Given the description of an element on the screen output the (x, y) to click on. 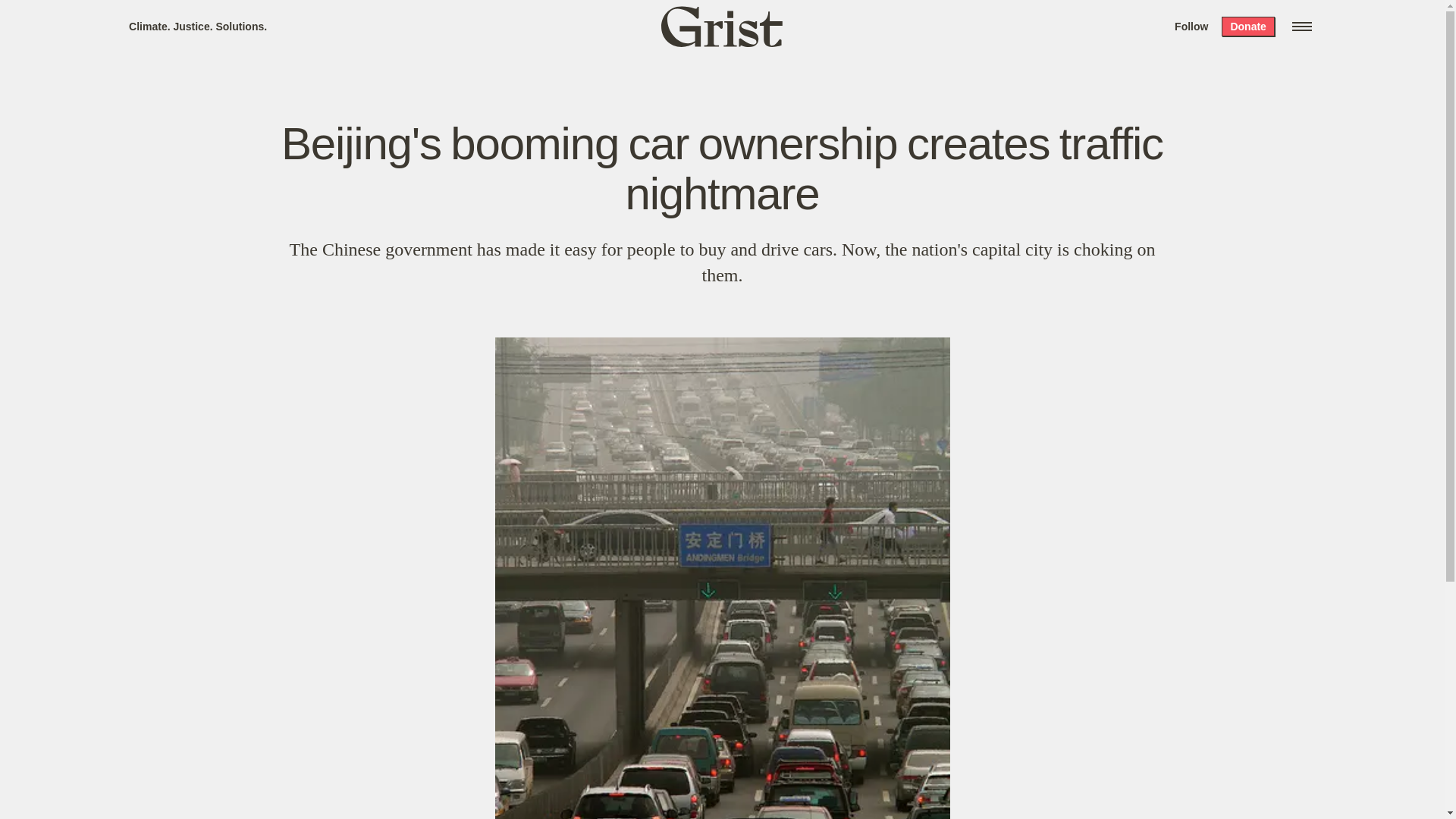
Search (227, 18)
Grist home (722, 25)
Follow (1191, 26)
Donate (1247, 26)
